Given the description of an element on the screen output the (x, y) to click on. 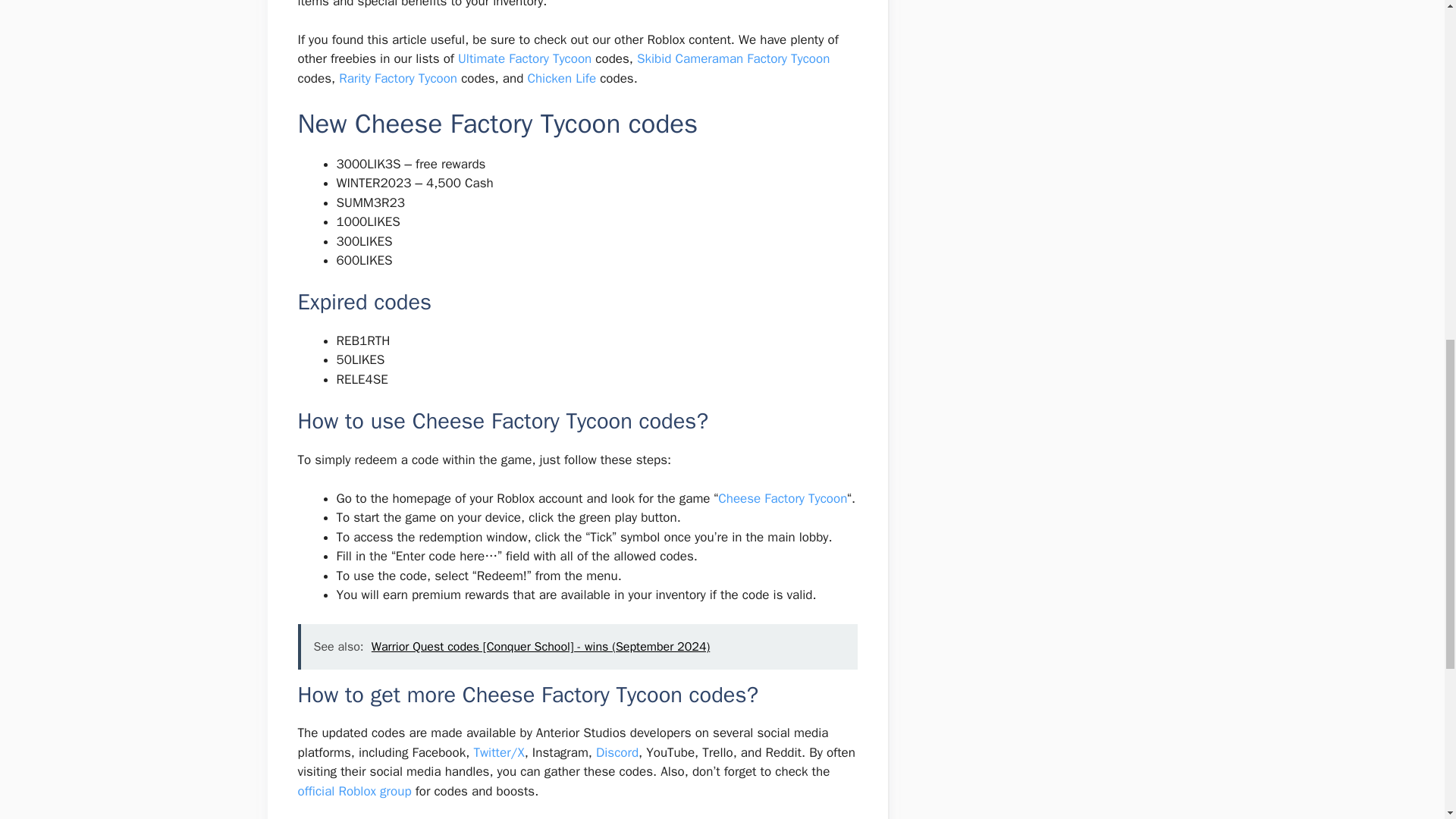
official Roblox group (353, 790)
Discord (617, 752)
Skibid Cameraman Factory Tycoon (733, 58)
Cheese Factory Tycoon (782, 498)
Chicken Life (561, 77)
Rarity Factory Tycoon (398, 77)
Ultimate Factory Tycoon (524, 58)
